Given the description of an element on the screen output the (x, y) to click on. 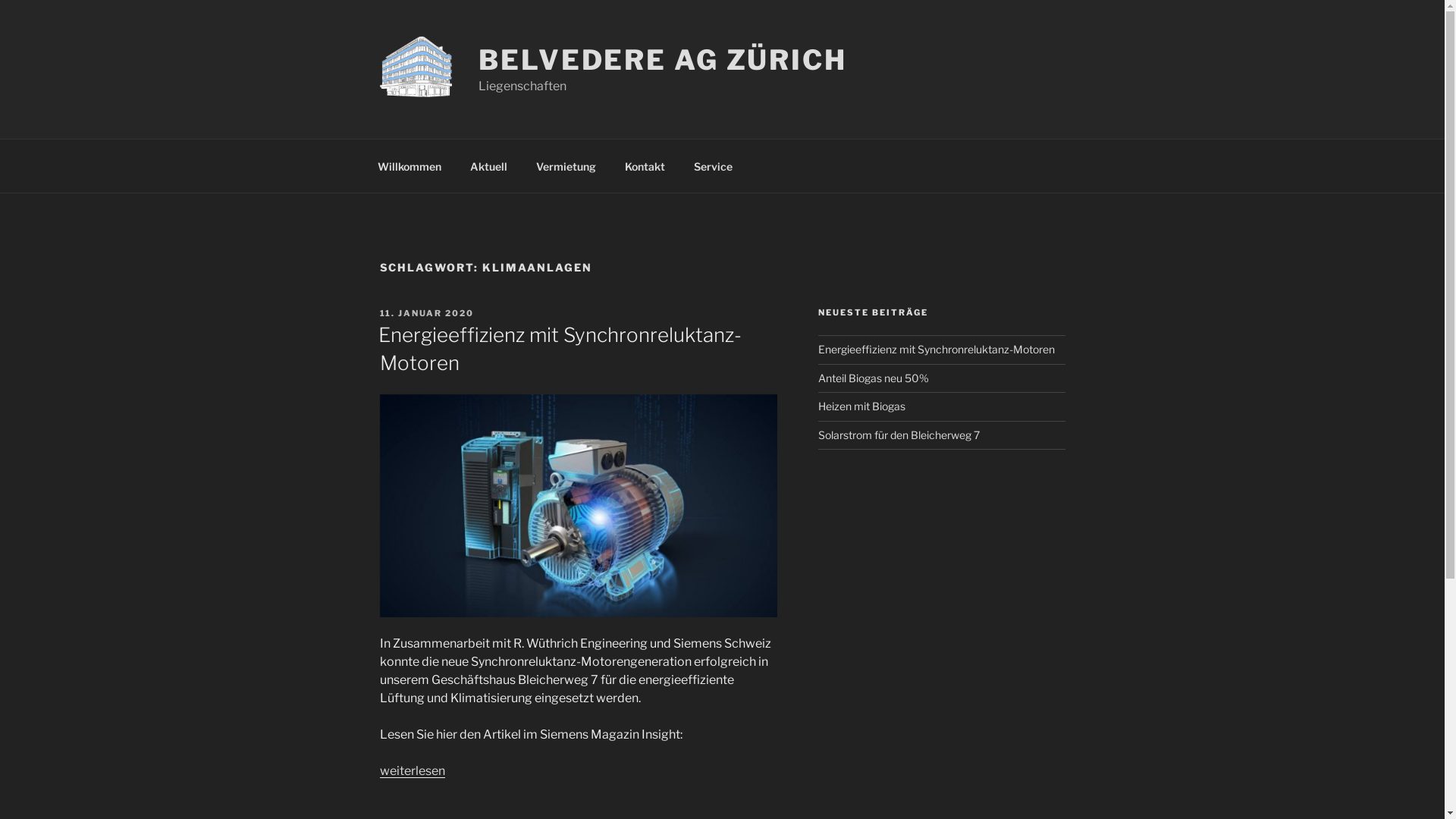
Heizen mit Biogas Element type: text (861, 405)
11. JANUAR 2020 Element type: text (426, 312)
Kontakt Element type: text (644, 165)
Willkommen Element type: text (409, 165)
Vermietung Element type: text (566, 165)
Energieeffizienz mit Synchronreluktanz-Motoren Element type: text (936, 348)
Aktuell Element type: text (488, 165)
Energieeffizienz mit Synchronreluktanz-Motoren Element type: text (558, 348)
Anteil Biogas neu 50% Element type: text (873, 377)
Service Element type: text (713, 165)
